Given the description of an element on the screen output the (x, y) to click on. 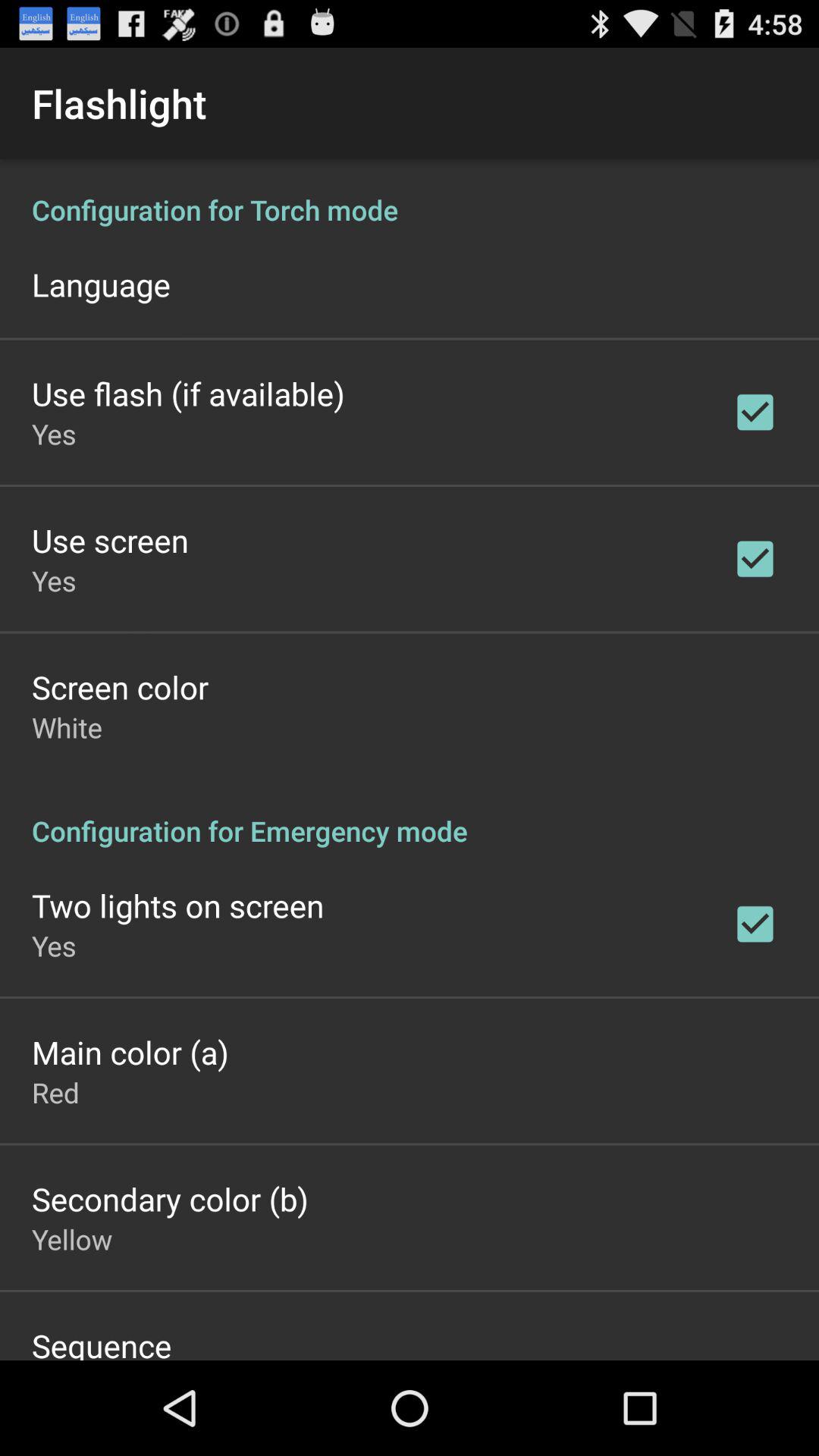
tap item above the yes item (187, 393)
